Given the description of an element on the screen output the (x, y) to click on. 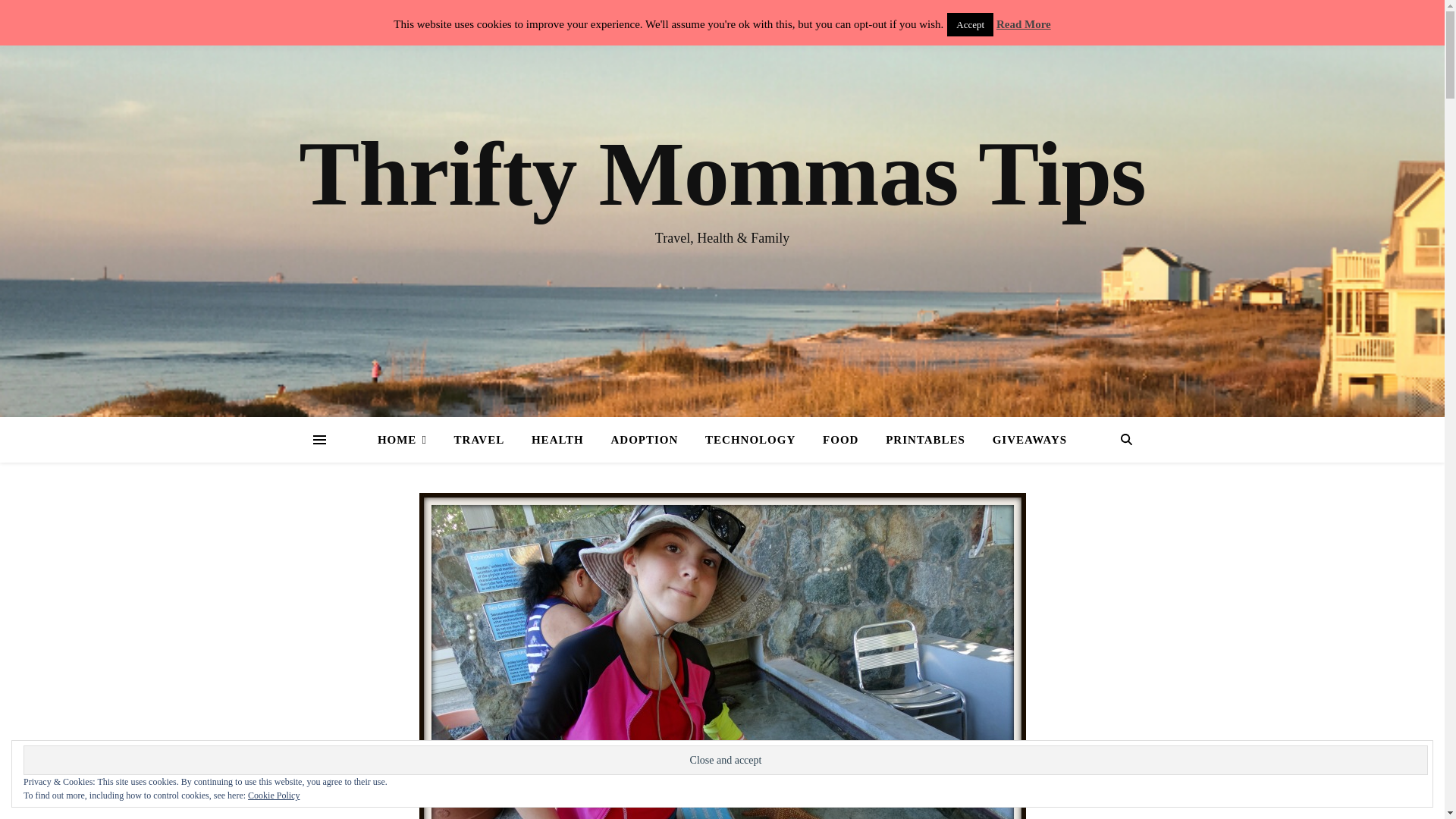
ADOPTION (644, 439)
PRINTABLES (924, 439)
HOME (408, 439)
GIVEAWAYS (1023, 439)
TECHNOLOGY (750, 439)
TRAVEL (479, 439)
HEALTH (557, 439)
Close and accept (725, 759)
Thrifty Mommas Tips (721, 174)
FOOD (840, 439)
